Given the description of an element on the screen output the (x, y) to click on. 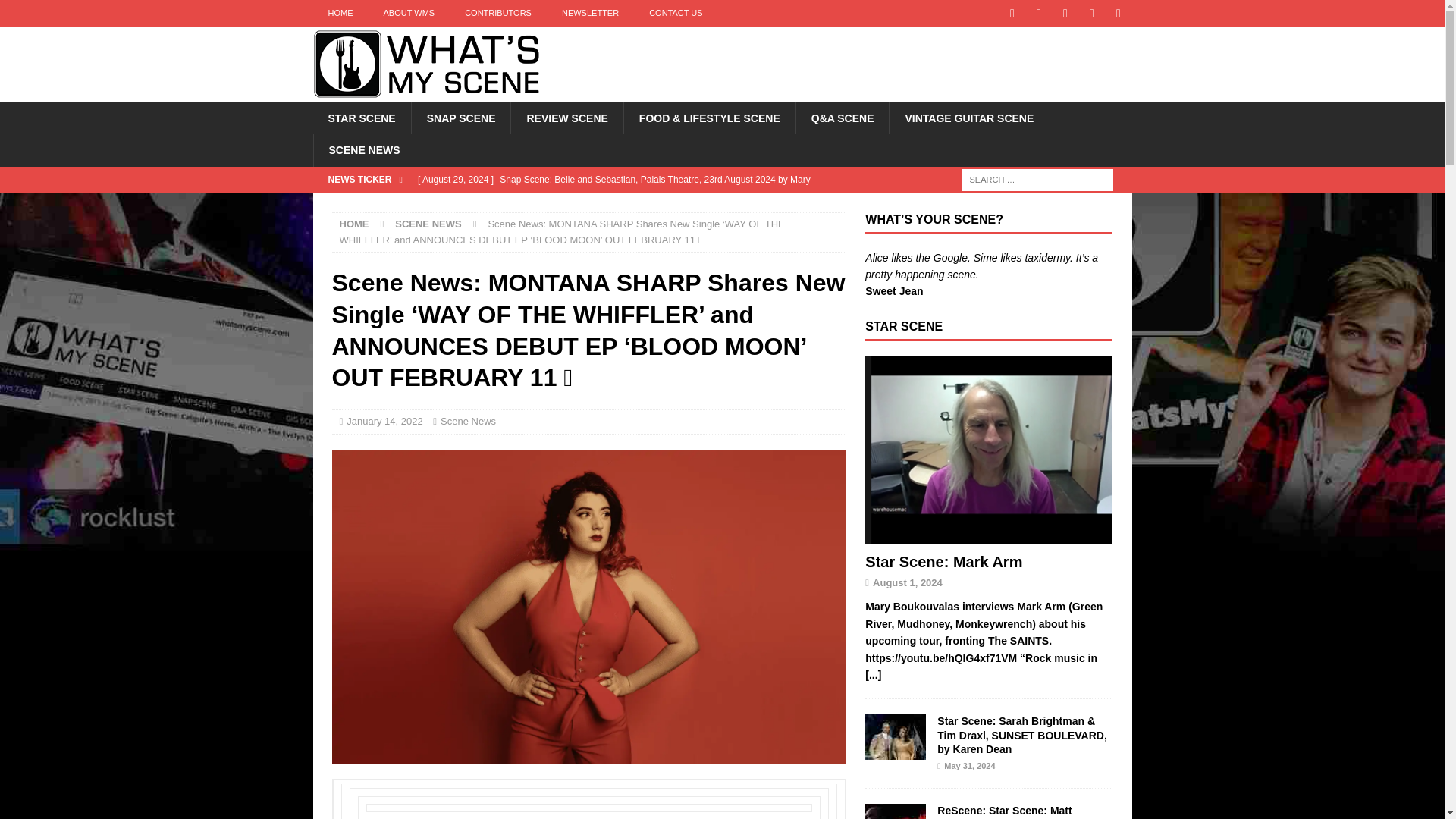
VINTAGE GUITAR SCENE (968, 118)
SCENE NEWS (363, 150)
ABOUT WMS (408, 13)
NEWSLETTER (590, 13)
SCENE NEWS (427, 224)
STAR SCENE (361, 118)
HOME (354, 224)
REVIEW SCENE (567, 118)
Search (56, 11)
CONTRIBUTORS (498, 13)
